Given the description of an element on the screen output the (x, y) to click on. 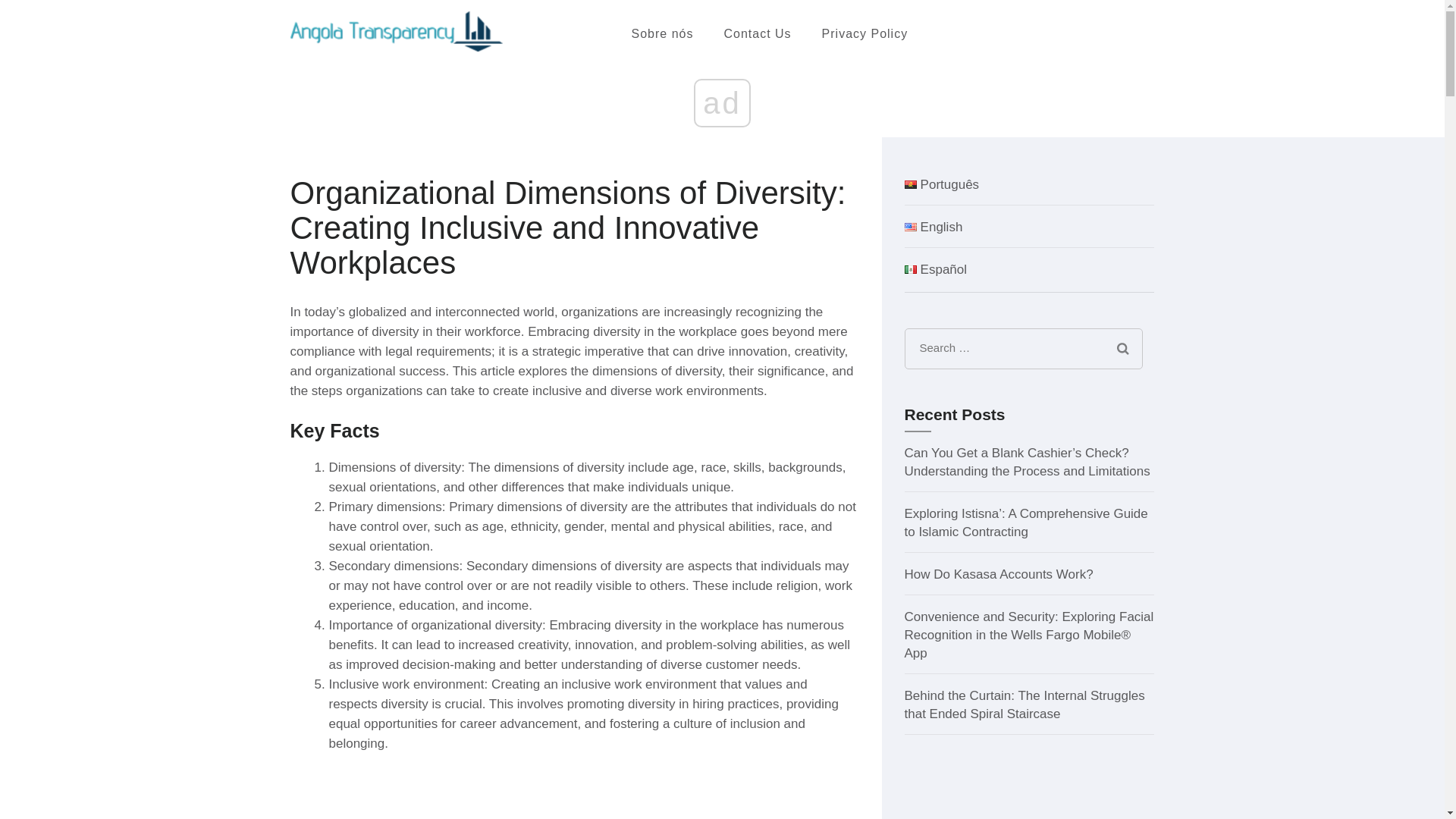
Angola Transparency (715, 43)
Search (1122, 348)
English (933, 227)
How Do Kasasa Accounts Work? (998, 574)
Privacy Policy (865, 33)
Search (1122, 348)
Contact Us (756, 33)
Search (1122, 348)
